Given the description of an element on the screen output the (x, y) to click on. 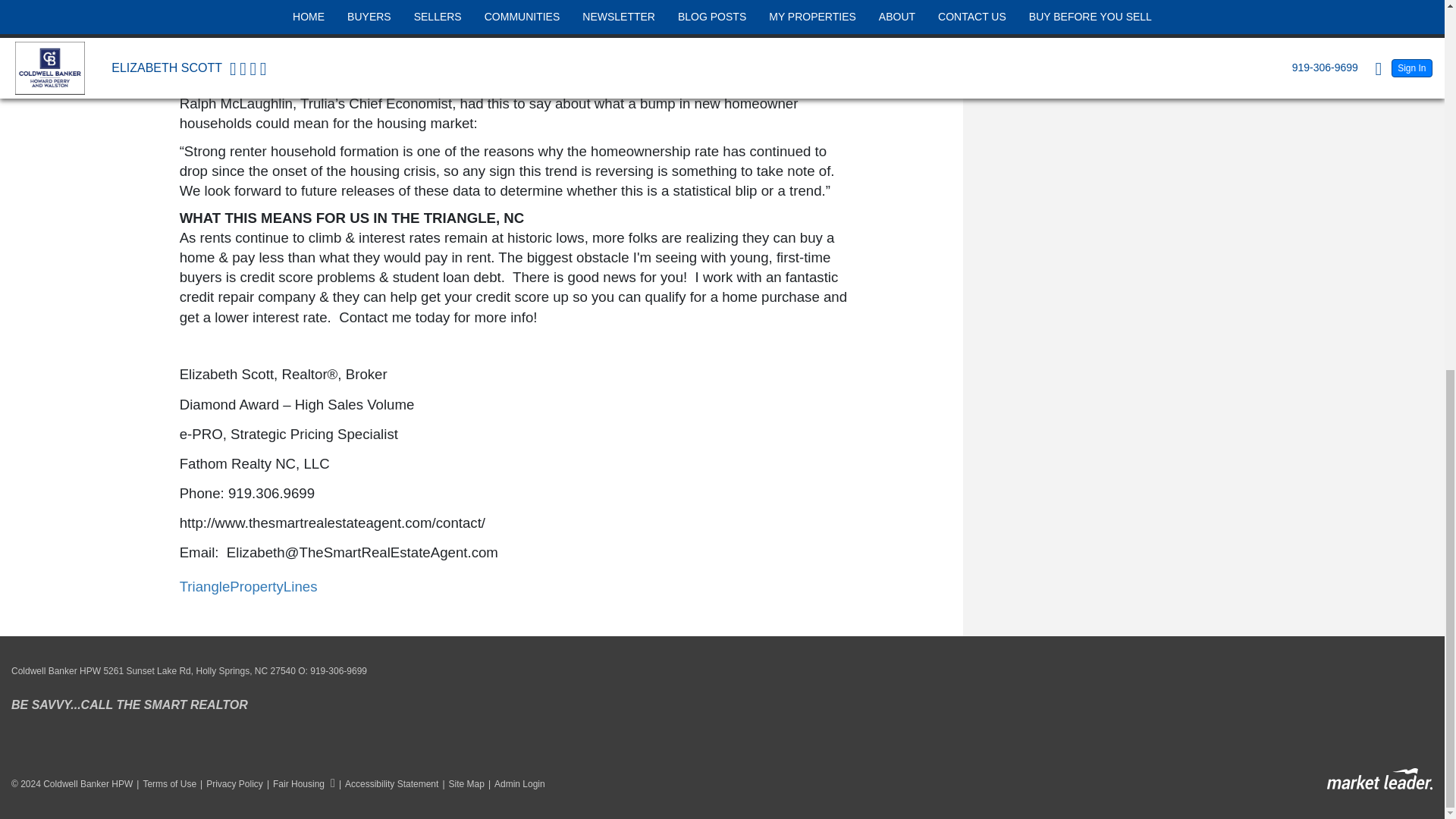
Triangle Property Lines  (248, 586)
Powered By Market Leader (1379, 779)
TrianglePropertyLines (248, 586)
